Given the description of an element on the screen output the (x, y) to click on. 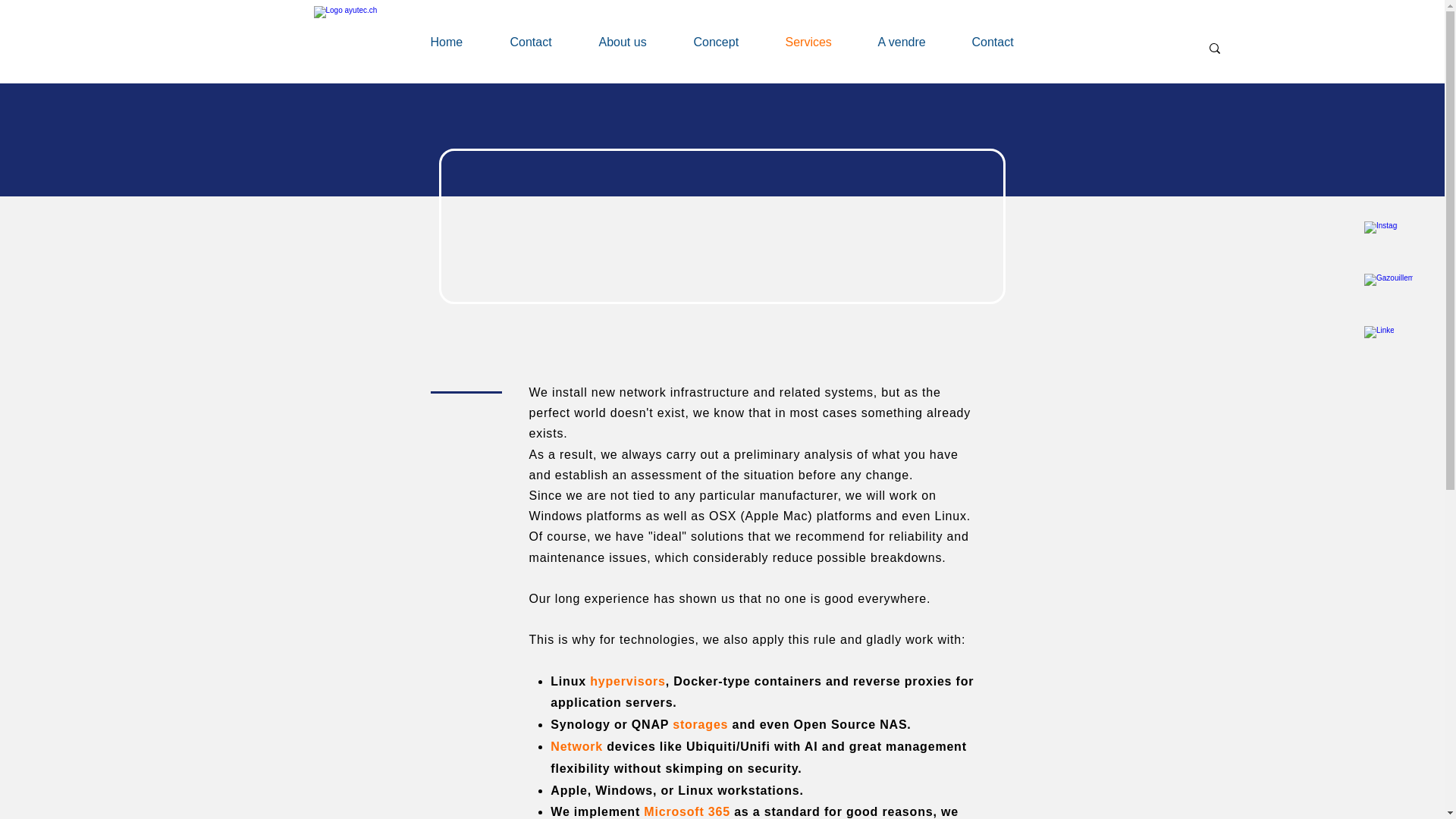
Concept (728, 42)
Site ayutec.ch (368, 40)
A vendre (912, 42)
Services (819, 42)
Home (458, 42)
About us (633, 42)
Contact (543, 42)
Contact (1003, 42)
